Given the description of an element on the screen output the (x, y) to click on. 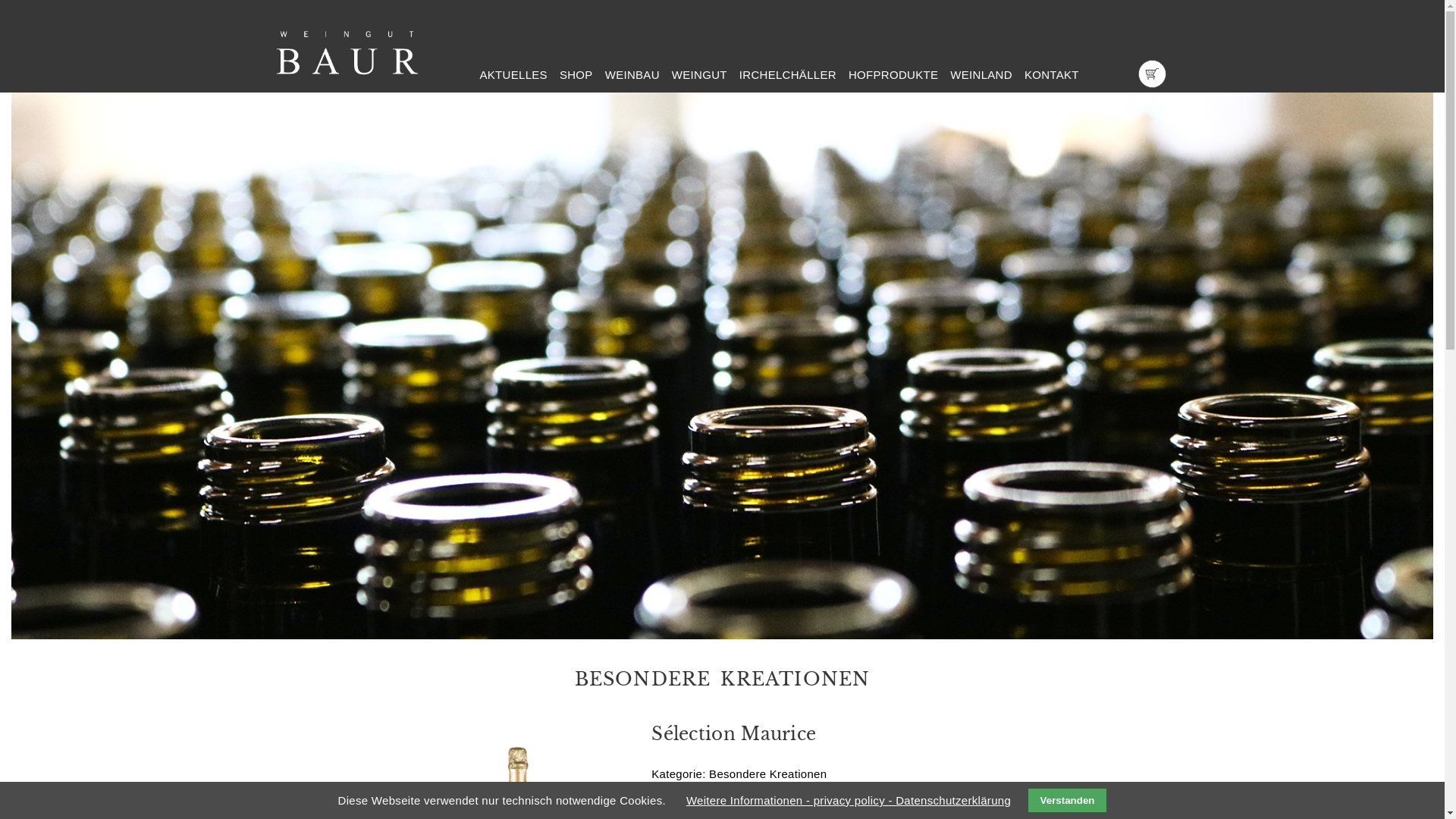
Verstanden Element type: text (1067, 800)
AKTUELLES Element type: text (513, 74)
WEINLAND Element type: text (981, 74)
  Element type: text (479, 79)
KONTAKT Element type: text (1051, 74)
WEINGUT Element type: text (699, 74)
HOFPRODUKTE Element type: text (893, 74)
WEINBAU Element type: text (632, 74)
SHOP Element type: text (576, 74)
